Given the description of an element on the screen output the (x, y) to click on. 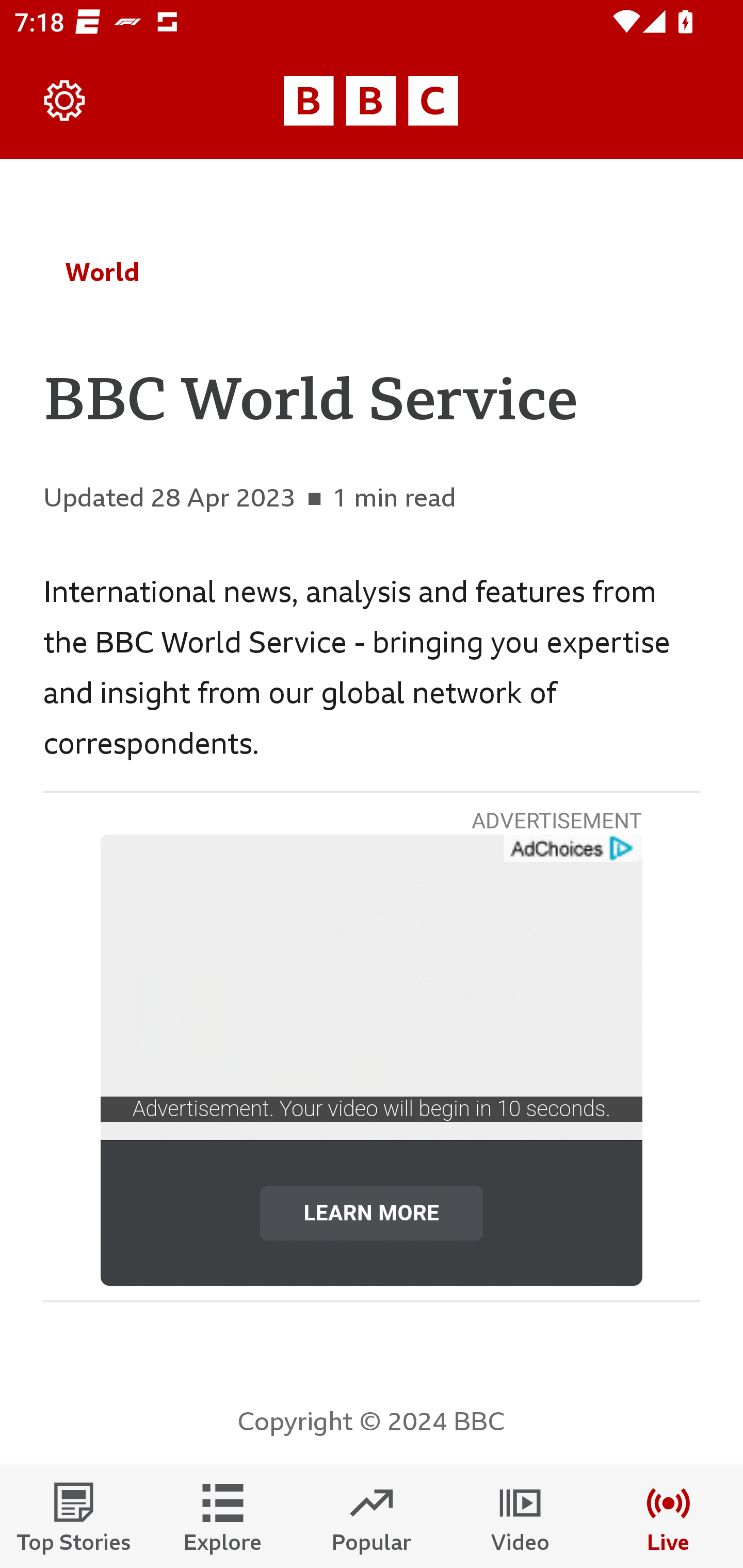
Settings (64, 100)
World (102, 271)
get?name=admarker-full-tl (571, 848)
LEARN MORE (371, 1212)
Top Stories (74, 1517)
Explore (222, 1517)
Popular (371, 1517)
Video (519, 1517)
